Given the description of an element on the screen output the (x, y) to click on. 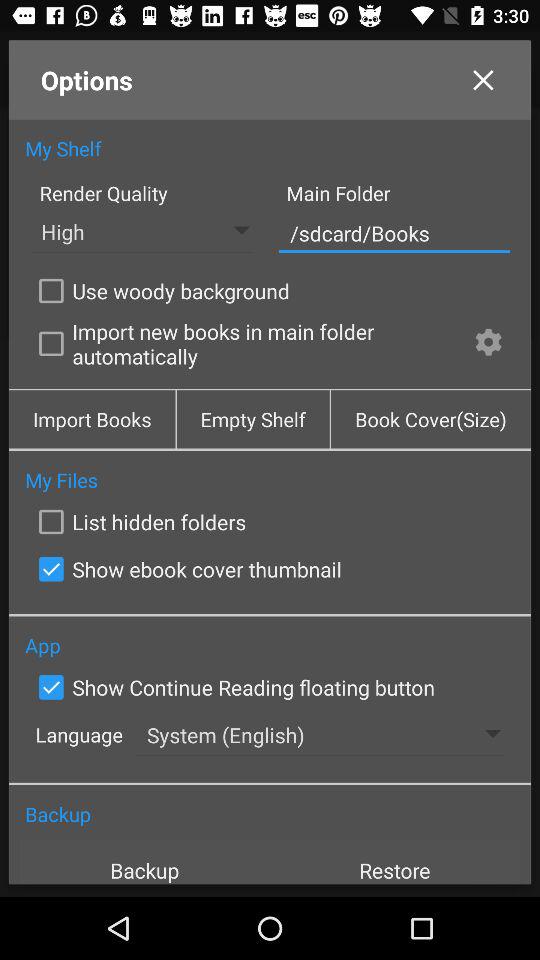
scroll until list hidden folders item (138, 522)
